Given the description of an element on the screen output the (x, y) to click on. 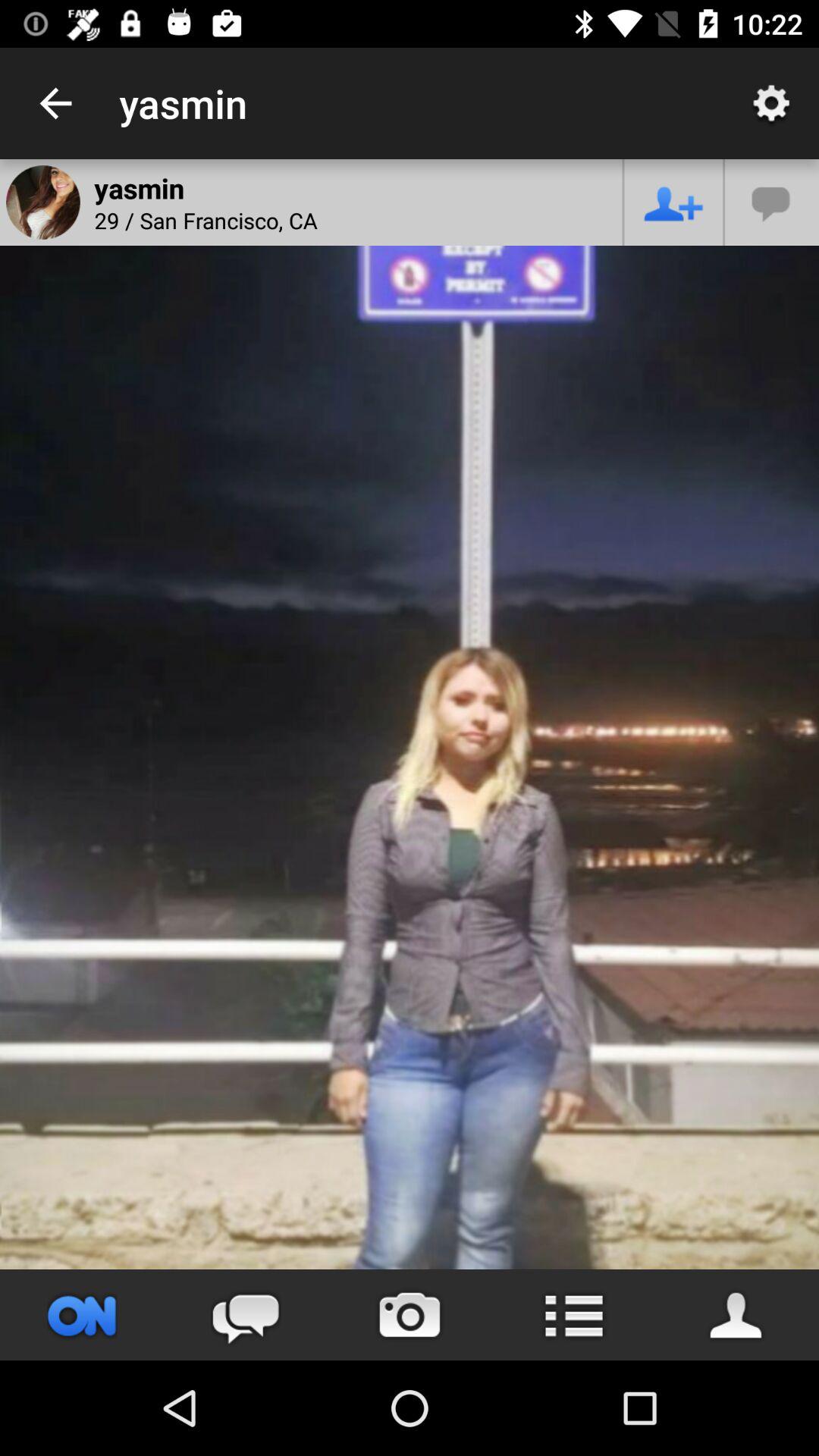
look at her profile (737, 1315)
